Given the description of an element on the screen output the (x, y) to click on. 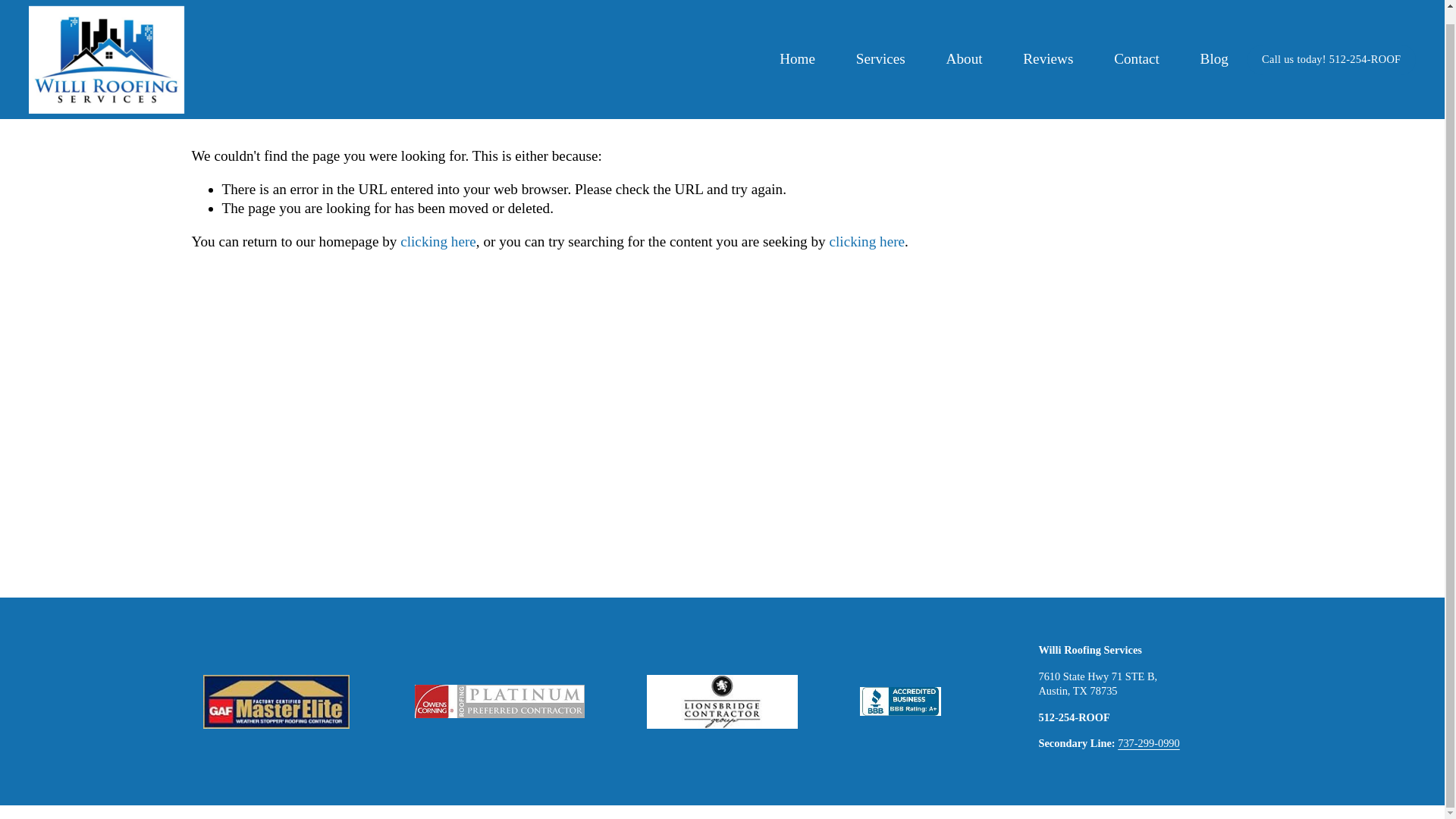
Services (880, 45)
Home (796, 45)
Reviews (1048, 45)
clicking here (866, 241)
Call us today! 512-254-ROOF (1331, 46)
Blog (1213, 45)
Contact (1135, 45)
737-299-0990 (1148, 743)
clicking here (438, 241)
About (964, 45)
